Given the description of an element on the screen output the (x, y) to click on. 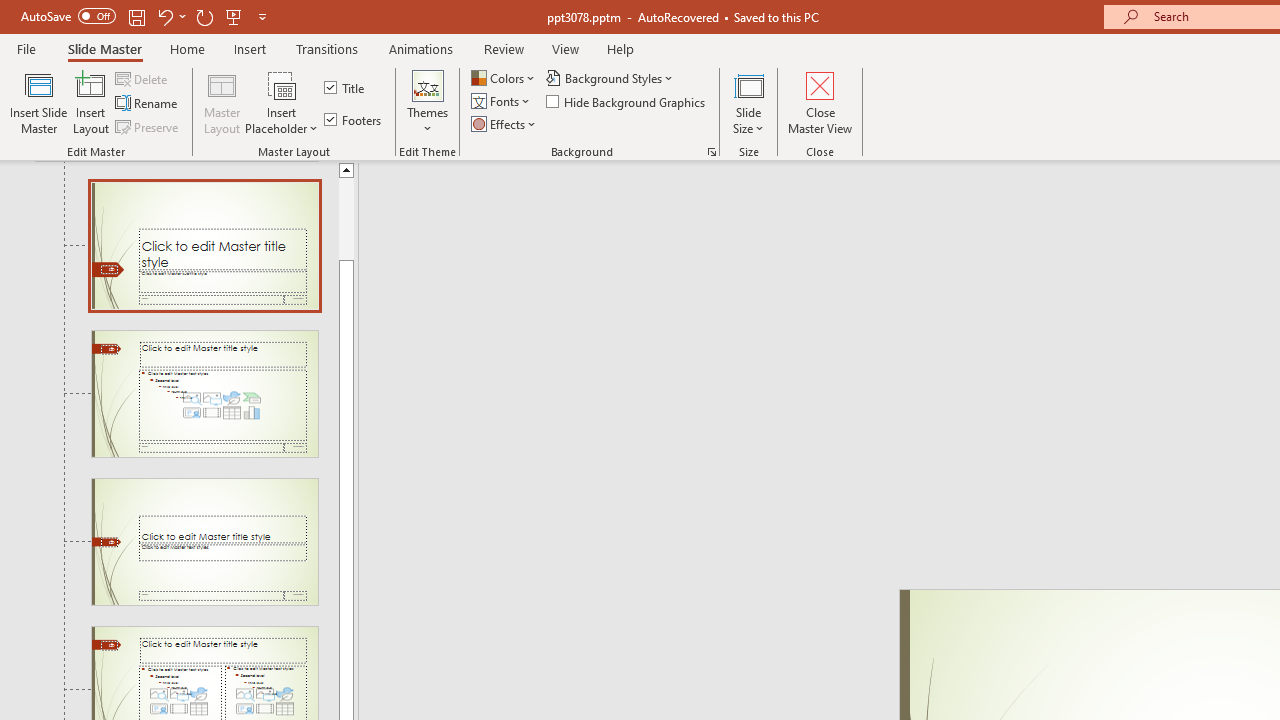
Themes (427, 102)
Background Styles (610, 78)
Slide Size (749, 102)
Format Background... (711, 151)
Title (346, 87)
Slide Title and Content Layout: used by no slides (204, 394)
Insert Placeholder (282, 102)
Insert Layout (91, 102)
Insert Slide Master (38, 102)
Close Master View (820, 102)
